Given the description of an element on the screen output the (x, y) to click on. 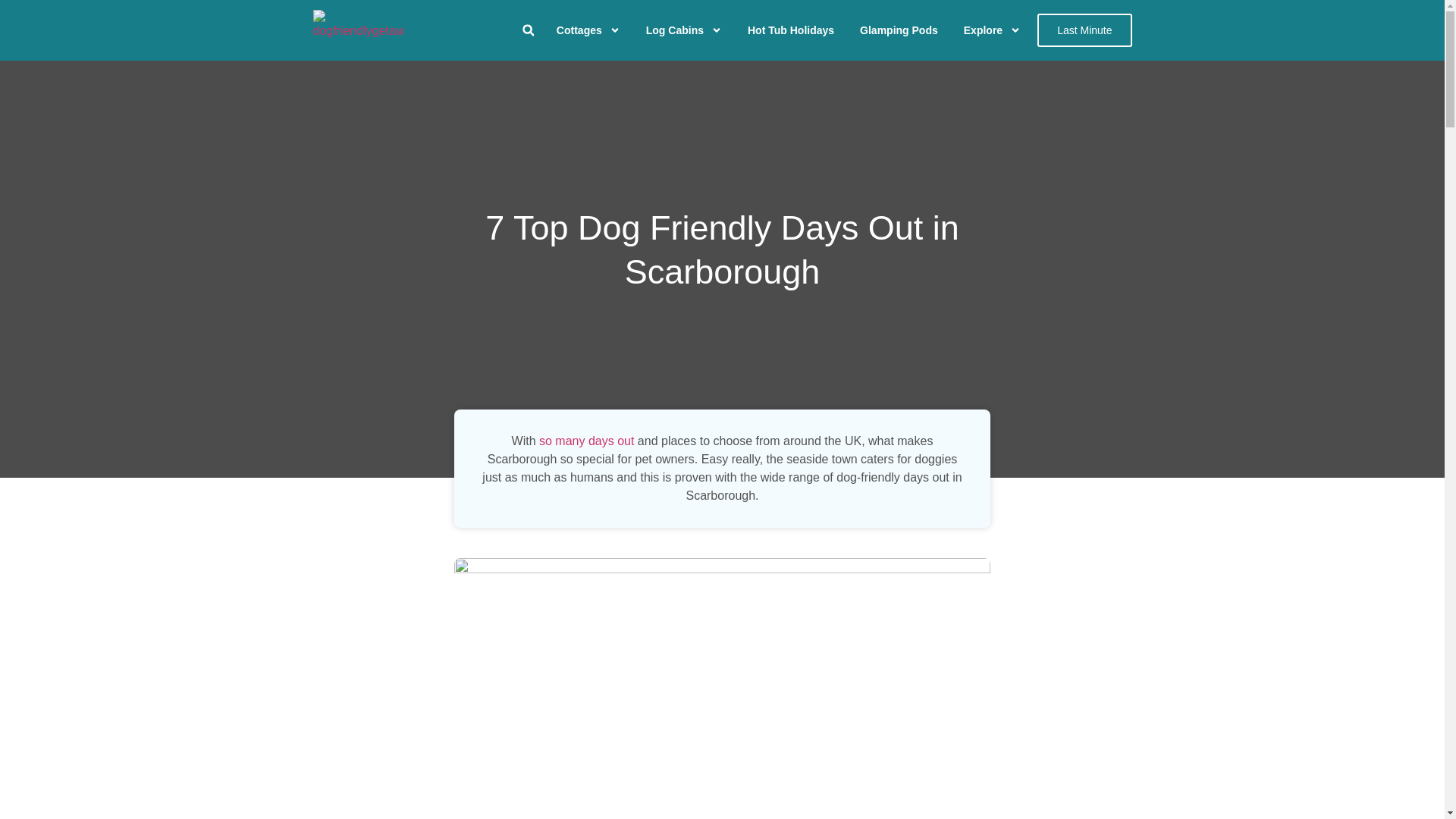
Explore (992, 30)
Log Cabins (684, 30)
Glamping Pods (899, 30)
Hot Tub Holidays (790, 30)
Cottages (587, 30)
